Given the description of an element on the screen output the (x, y) to click on. 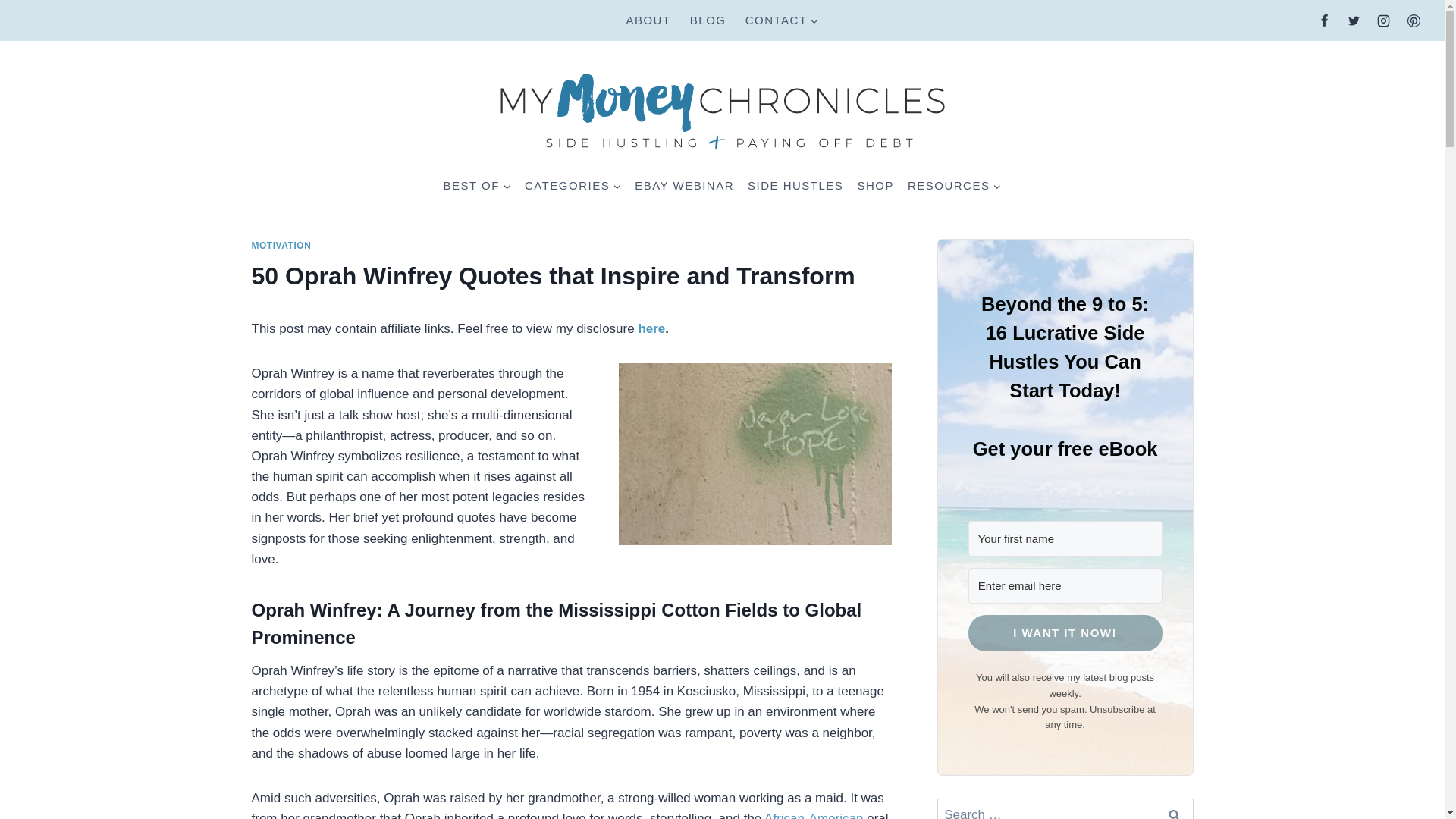
EBAY WEBINAR (684, 185)
African-American (813, 815)
ABOUT (647, 20)
MOTIVATION (281, 245)
CATEGORIES (572, 185)
RESOURCES (955, 185)
Search (1174, 808)
Search (1174, 808)
SIDE HUSTLES (795, 185)
SHOP (875, 185)
